Given the description of an element on the screen output the (x, y) to click on. 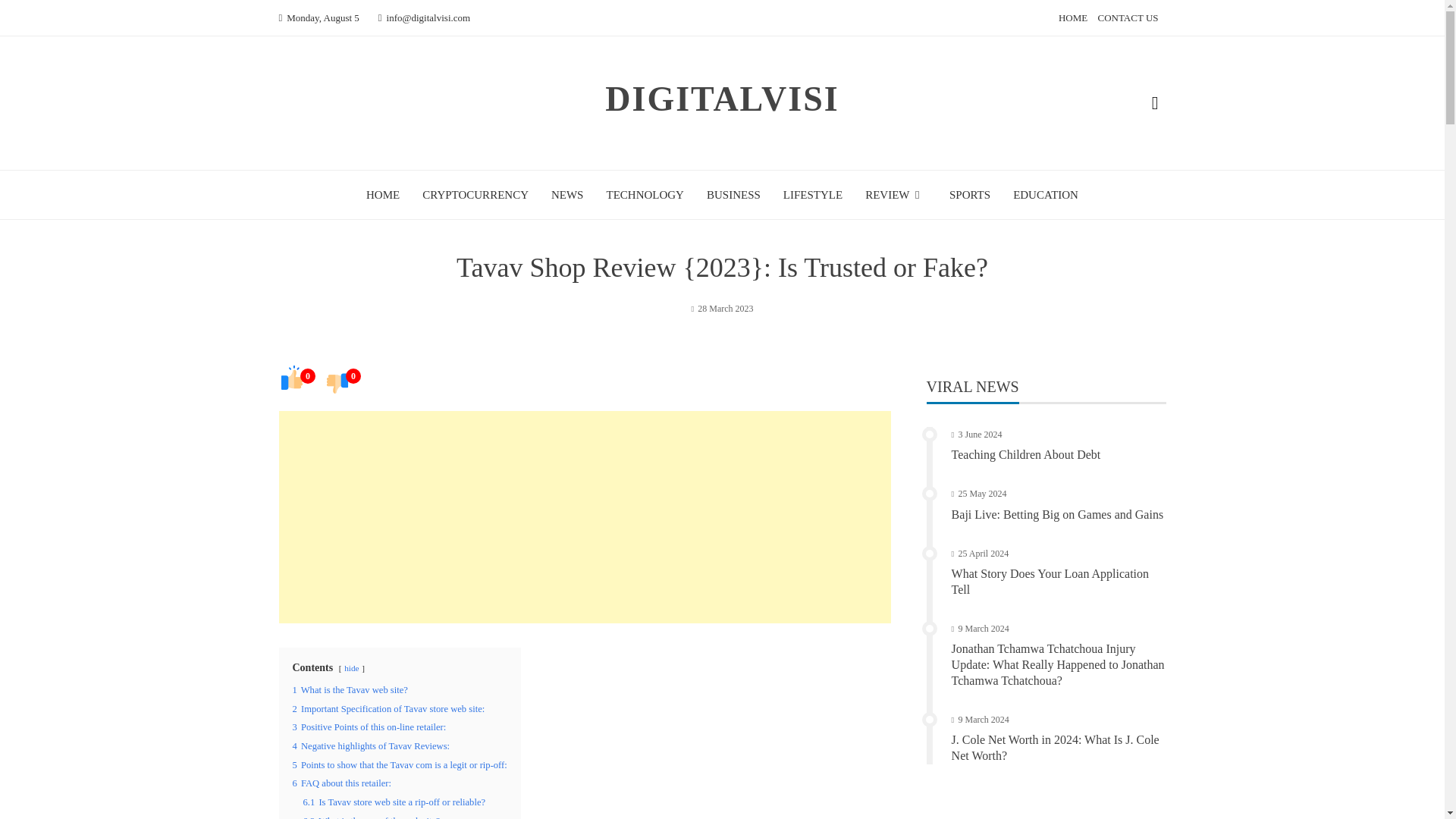
HOME (1072, 17)
REVIEW (895, 194)
BUSINESS (733, 194)
2 Important Specification of Tavav store web site: (388, 708)
3 Positive Points of this on-line retailer: (369, 726)
6.2 What is the age of the web site? (371, 817)
CRYPTOCURRENCY (475, 194)
CONTACT US (1127, 17)
SPORTS (969, 194)
1 What is the Tavav web site? (349, 689)
Advertisement (585, 517)
5 Points to show that the Tavav com is a legit or rip-off: (399, 765)
6.1 Is Tavav store web site a rip-off or reliable? (394, 801)
NEWS (567, 194)
EDUCATION (1045, 194)
